Given the description of an element on the screen output the (x, y) to click on. 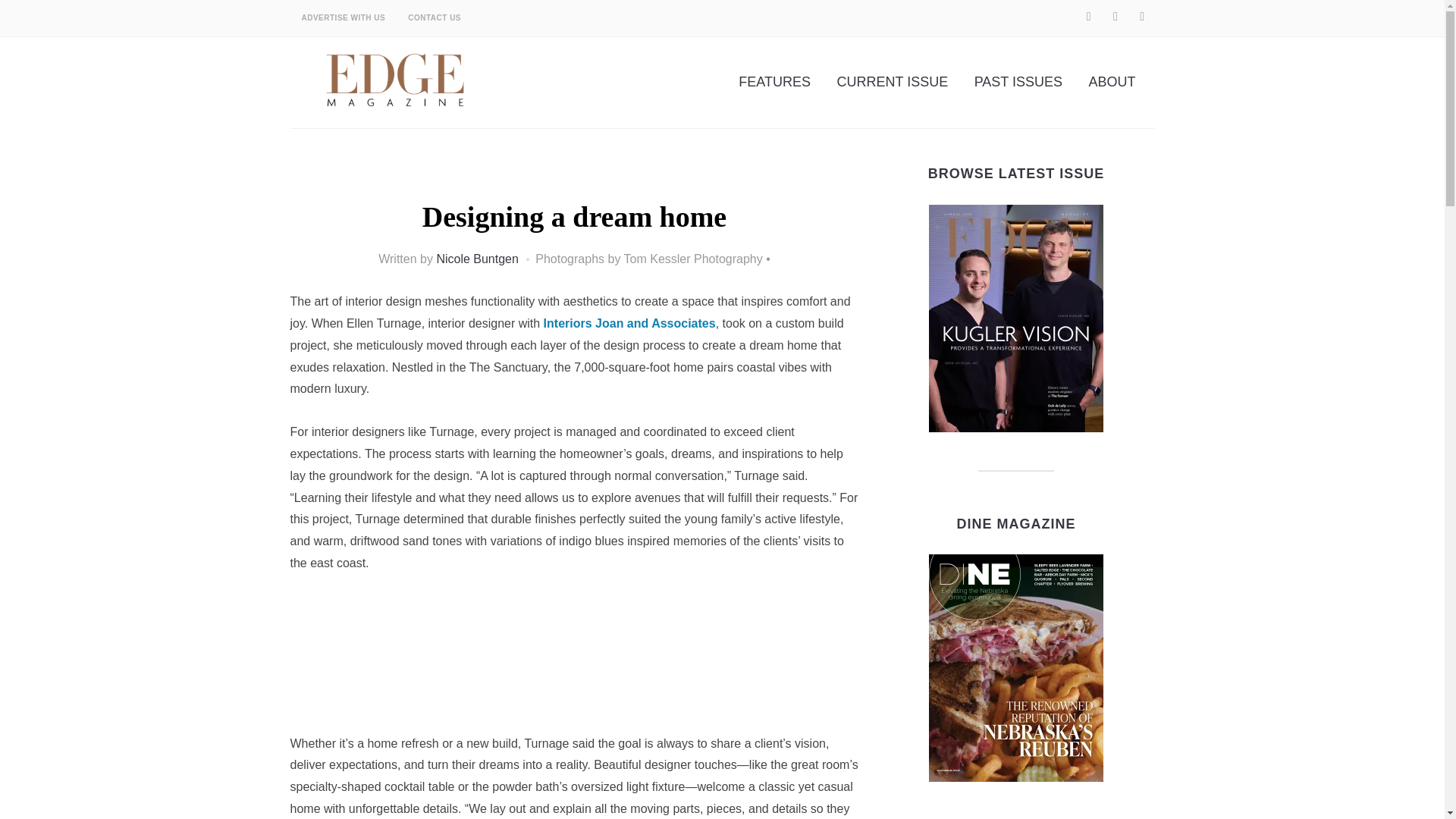
Facebook (1088, 16)
CONTACT US (433, 17)
instagram (1141, 16)
Twitter (1115, 16)
facebook (1088, 16)
Instagram (1141, 16)
FEATURES (774, 81)
cropped-edge-magazine-logo.png - Edge Magazine (395, 78)
Interiors Joan and Associates (629, 323)
twitter (1115, 16)
